Given the description of an element on the screen output the (x, y) to click on. 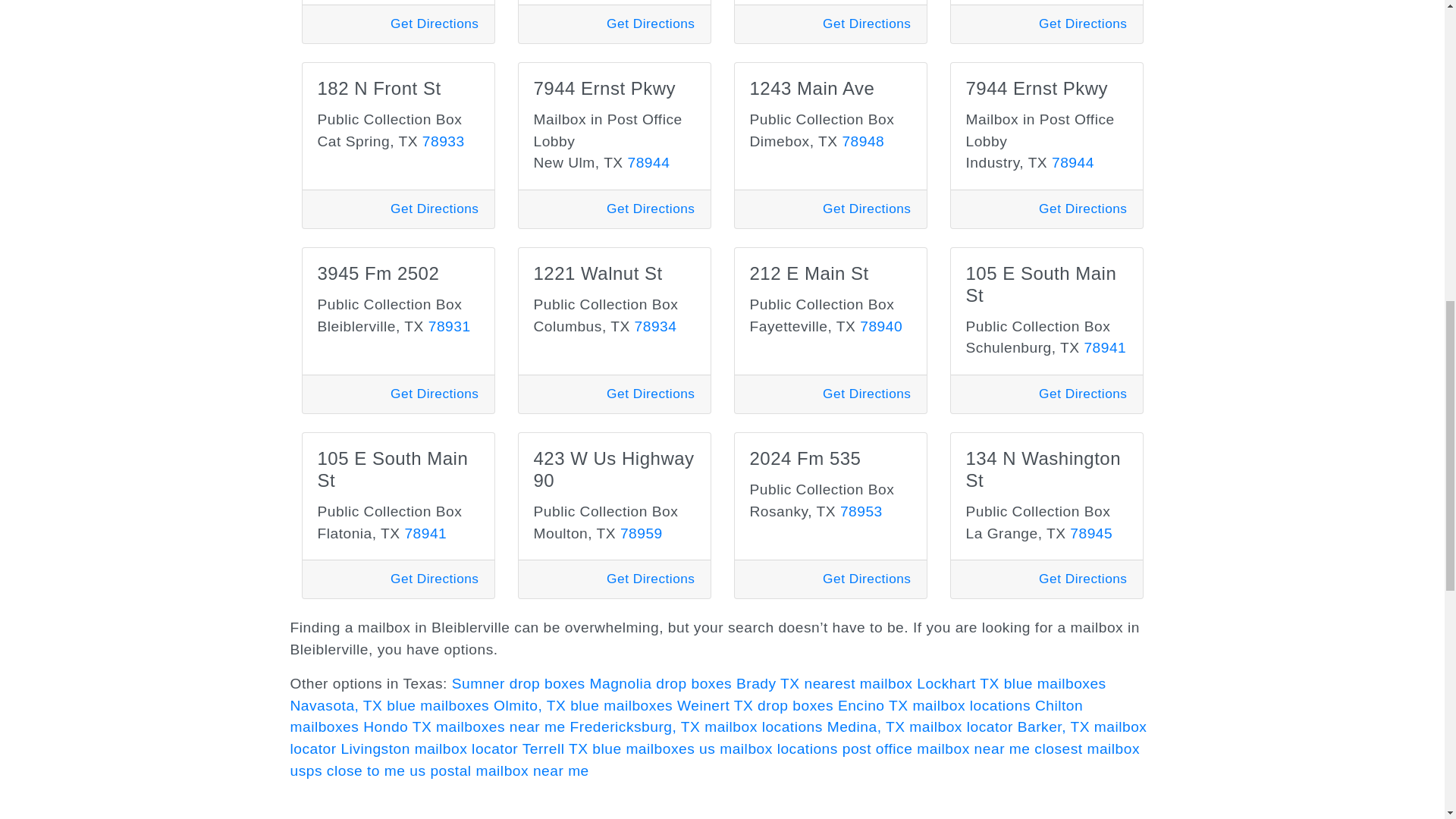
78933 (443, 141)
Get Directions (434, 23)
Get Directions (1082, 23)
78948 (862, 141)
Get Directions (866, 23)
Get Directions (434, 208)
Get Directions (650, 23)
Get Directions (650, 208)
78944 (648, 162)
